Given the description of an element on the screen output the (x, y) to click on. 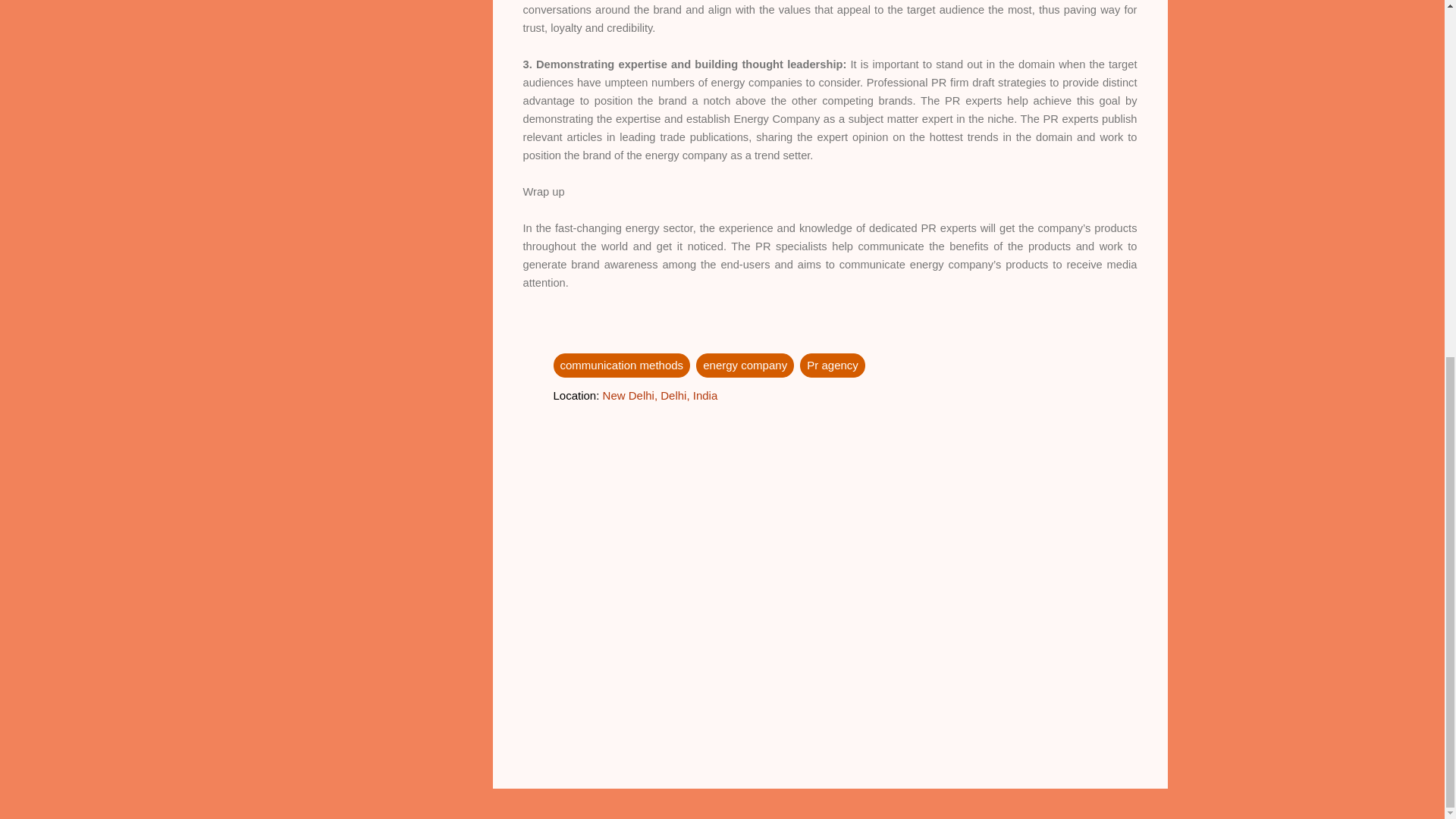
energy company (744, 364)
Pr agency (831, 364)
New Delhi, Delhi, India (659, 394)
communication methods (621, 364)
